Given the description of an element on the screen output the (x, y) to click on. 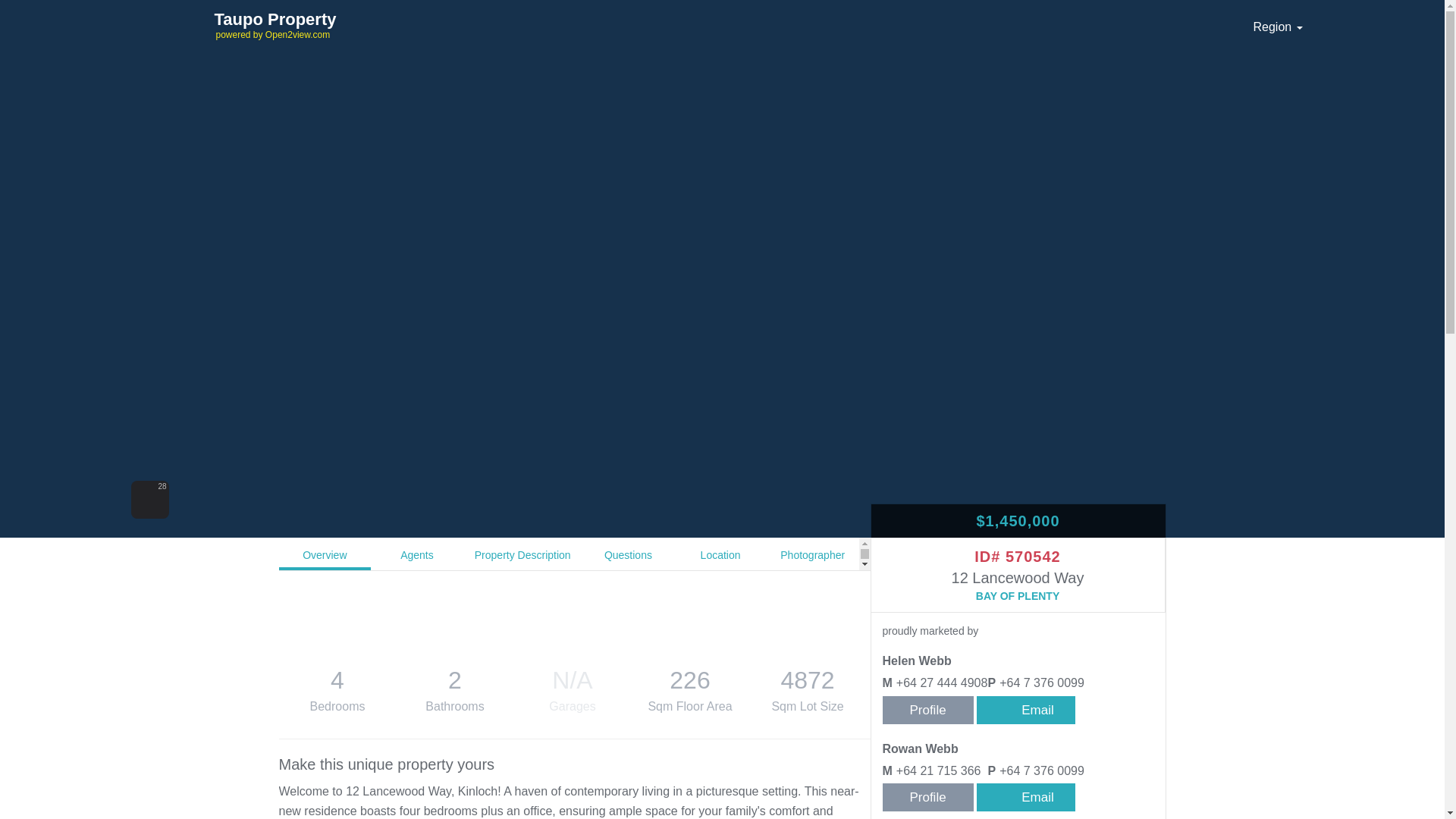
Taupo Property (369, 19)
